Given the description of an element on the screen output the (x, y) to click on. 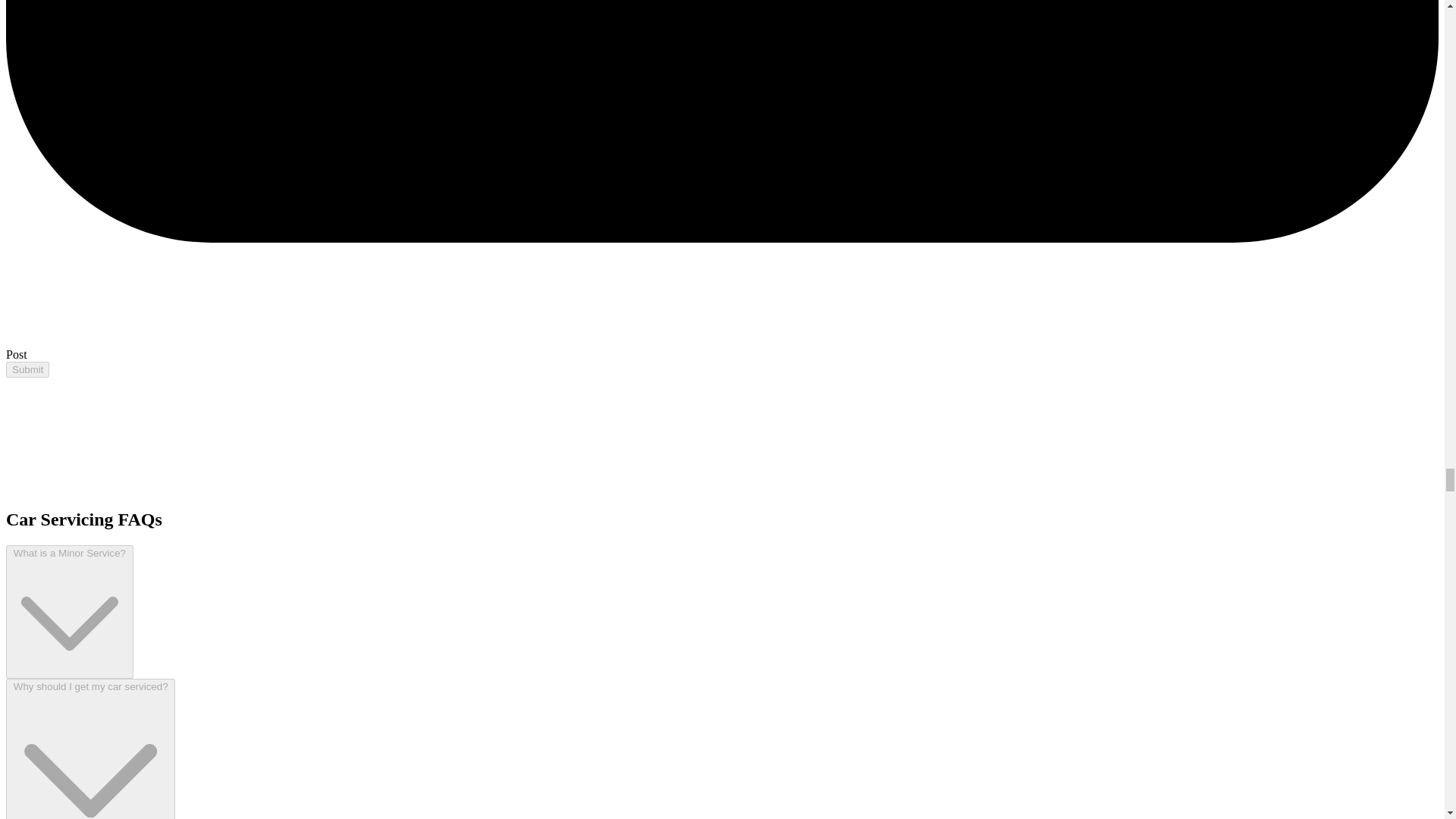
Why should I get my car serviced? (89, 748)
Submit (27, 369)
What is a Minor Service? (69, 611)
